Given the description of an element on the screen output the (x, y) to click on. 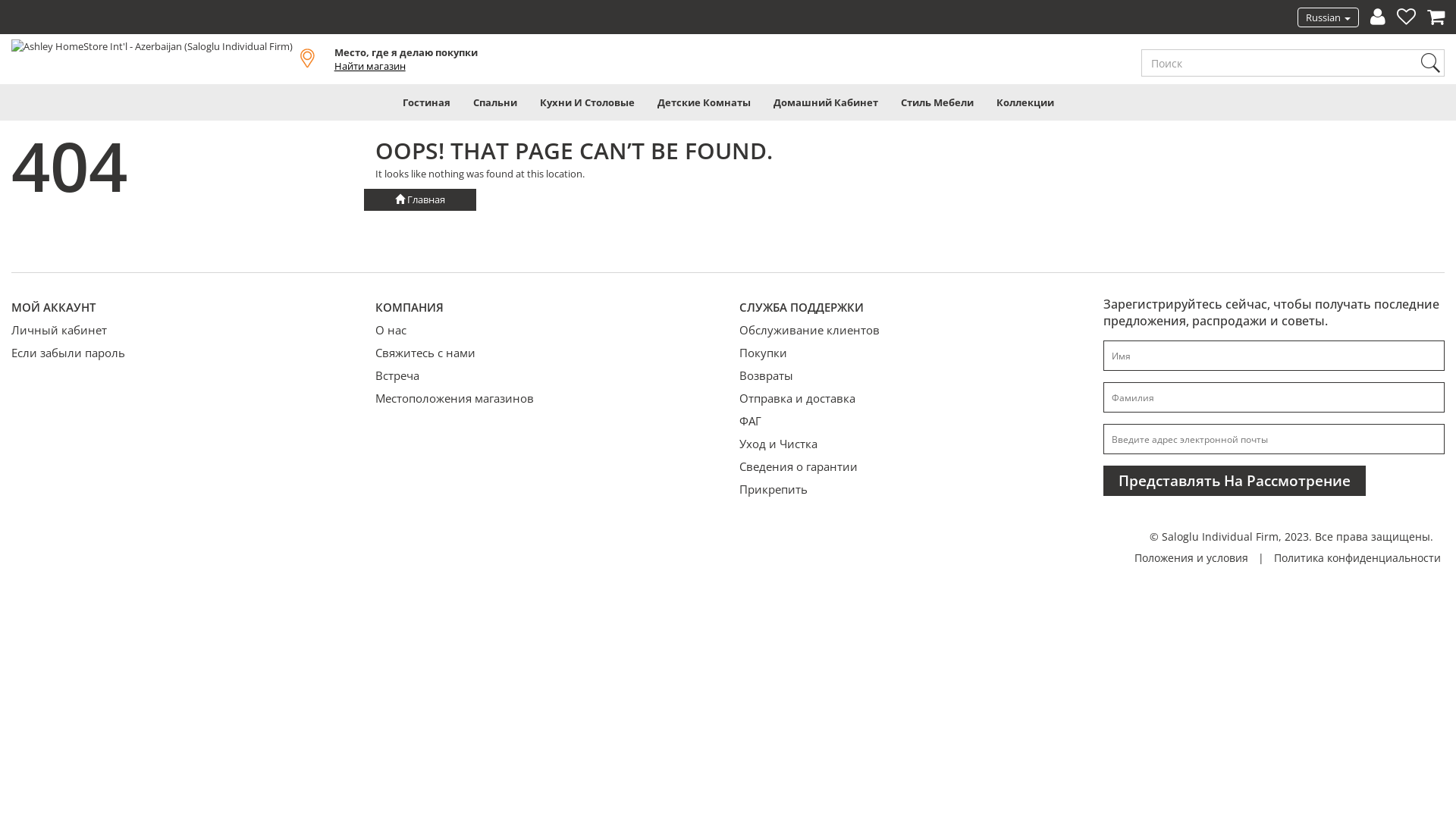
Search Element type: text (1430, 62)
Russian Element type: text (1328, 17)
Click Here Element type: text (13, 21)
